Given the description of an element on the screen output the (x, y) to click on. 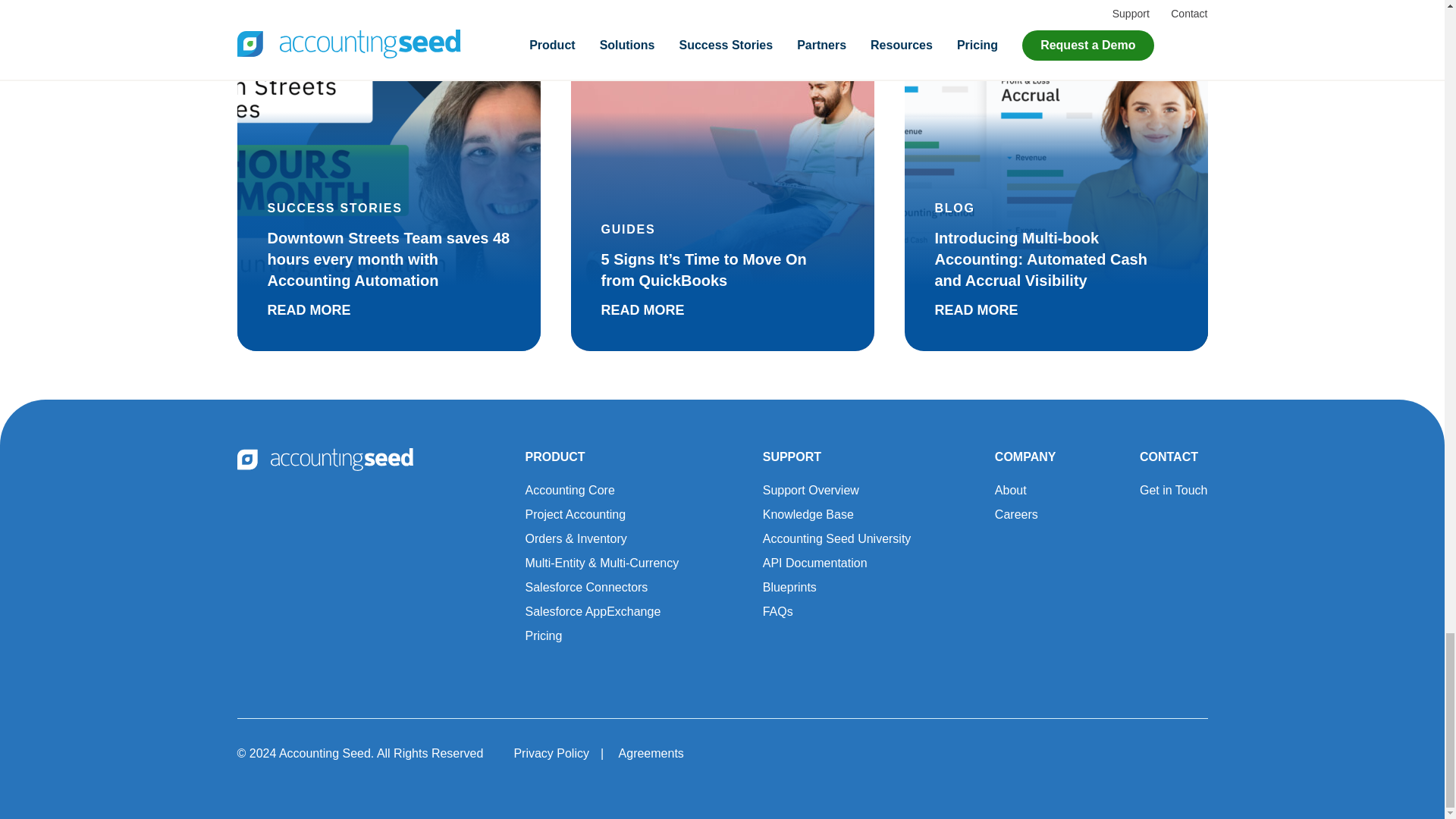
Twitter (1063, 752)
YouTube (1149, 752)
LinkedIn (1191, 752)
Facebook (1107, 752)
